Given the description of an element on the screen output the (x, y) to click on. 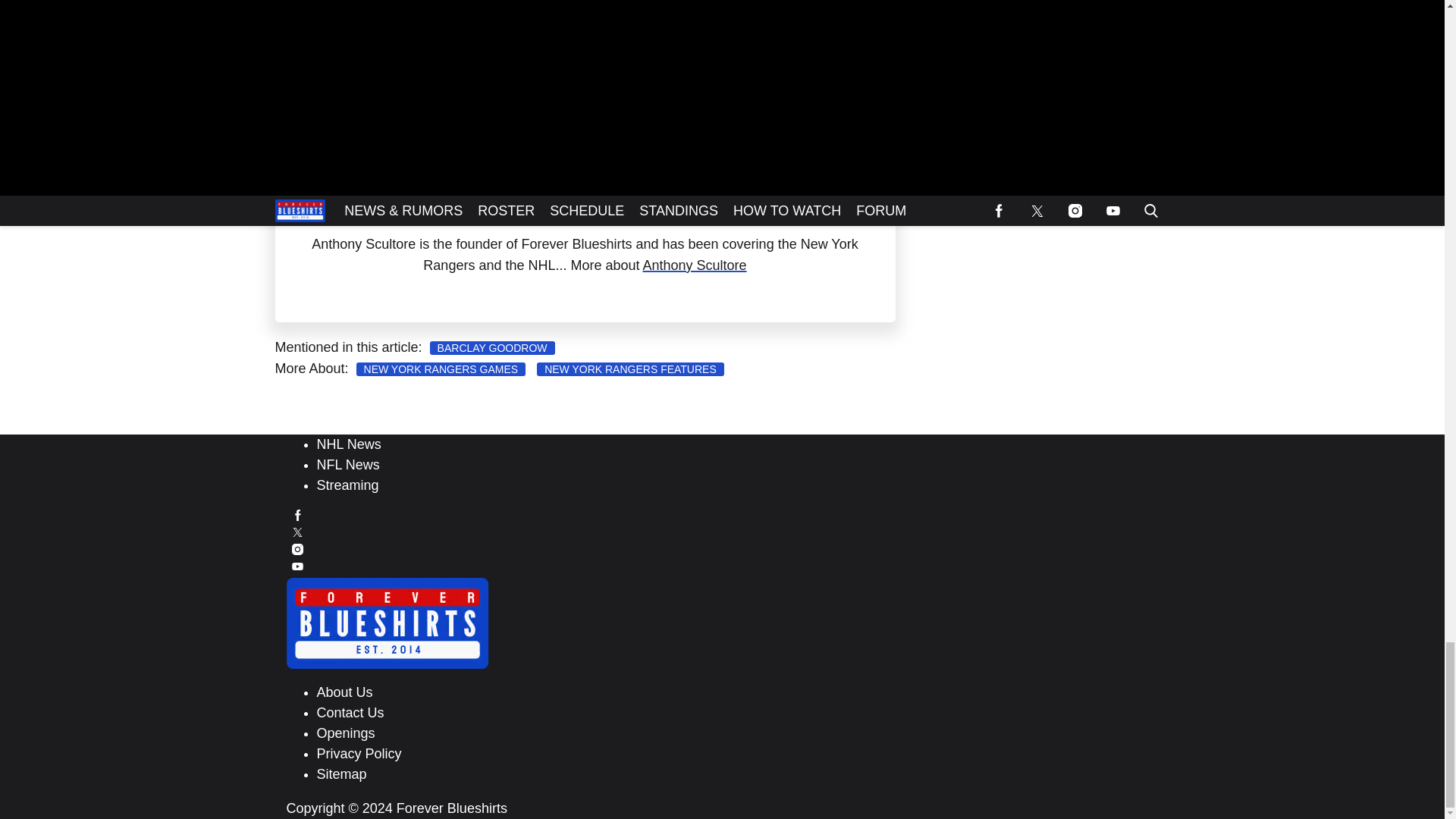
NEW YORK RANGERS GAMES (440, 368)
Streaming (347, 485)
NEW YORK RANGERS FEATURES (630, 368)
NHL News (349, 444)
BARCLAY GOODROW (491, 347)
NFL News (348, 464)
Anthony Scultore (694, 264)
About Us (344, 692)
Anthony Scultore (592, 217)
